Given the description of an element on the screen output the (x, y) to click on. 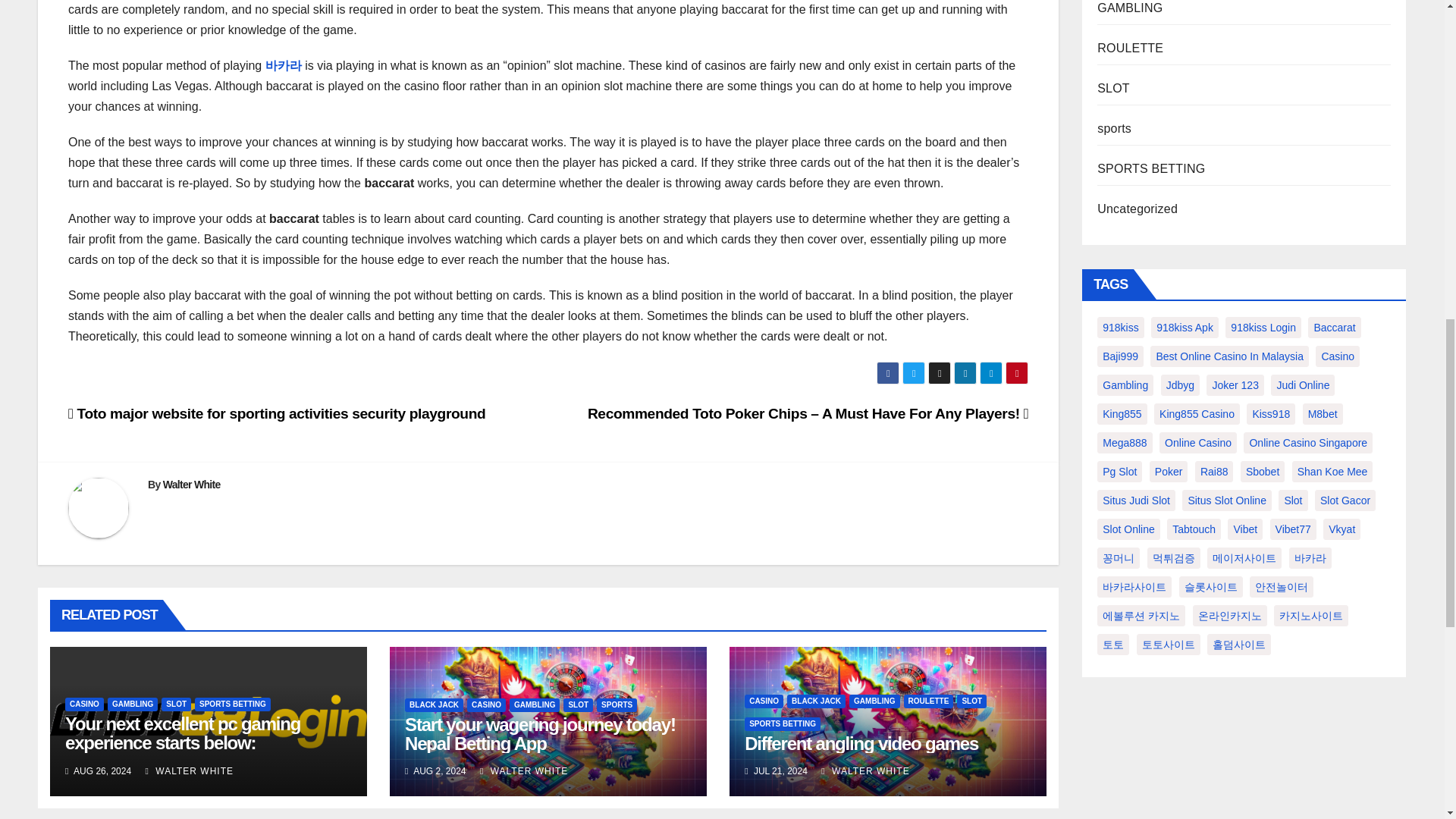
CASINO (84, 704)
GAMBLING (132, 704)
SPORTS BETTING (232, 704)
Walter White (192, 484)
WALTER WHITE (188, 770)
Permalink to: Different angling video games (861, 743)
